Given the description of an element on the screen output the (x, y) to click on. 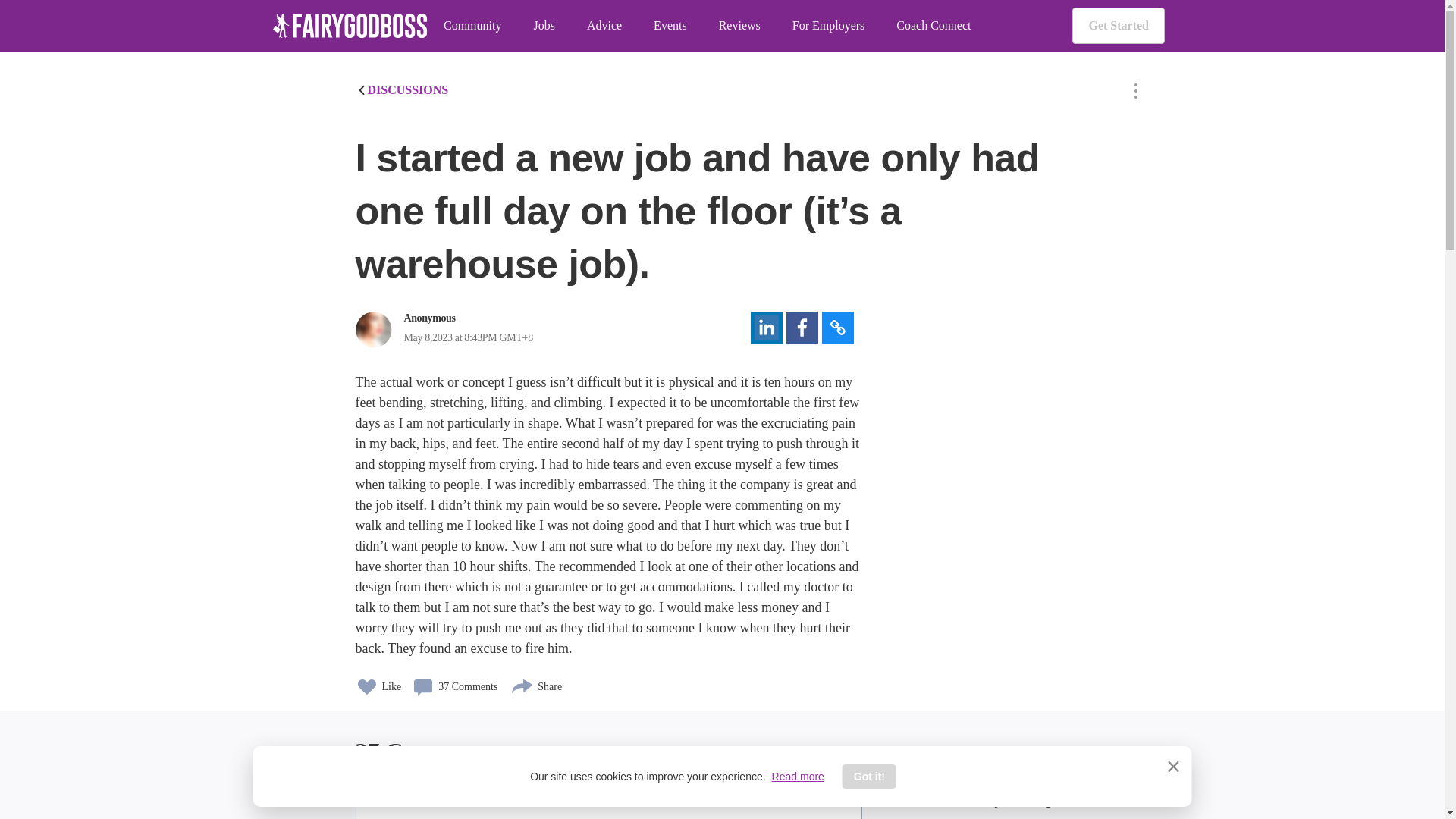
Advice (603, 25)
Get Started (1117, 25)
Events (670, 25)
Coach Connect (933, 25)
For Employers (828, 25)
37 Comments (454, 681)
Advice (603, 25)
Community (472, 25)
Coach Connect (933, 25)
Reviews (739, 25)
Like (378, 681)
DISCUSSIONS (401, 89)
Jobs (543, 25)
Community (472, 25)
Reviews (739, 25)
